Given the description of an element on the screen output the (x, y) to click on. 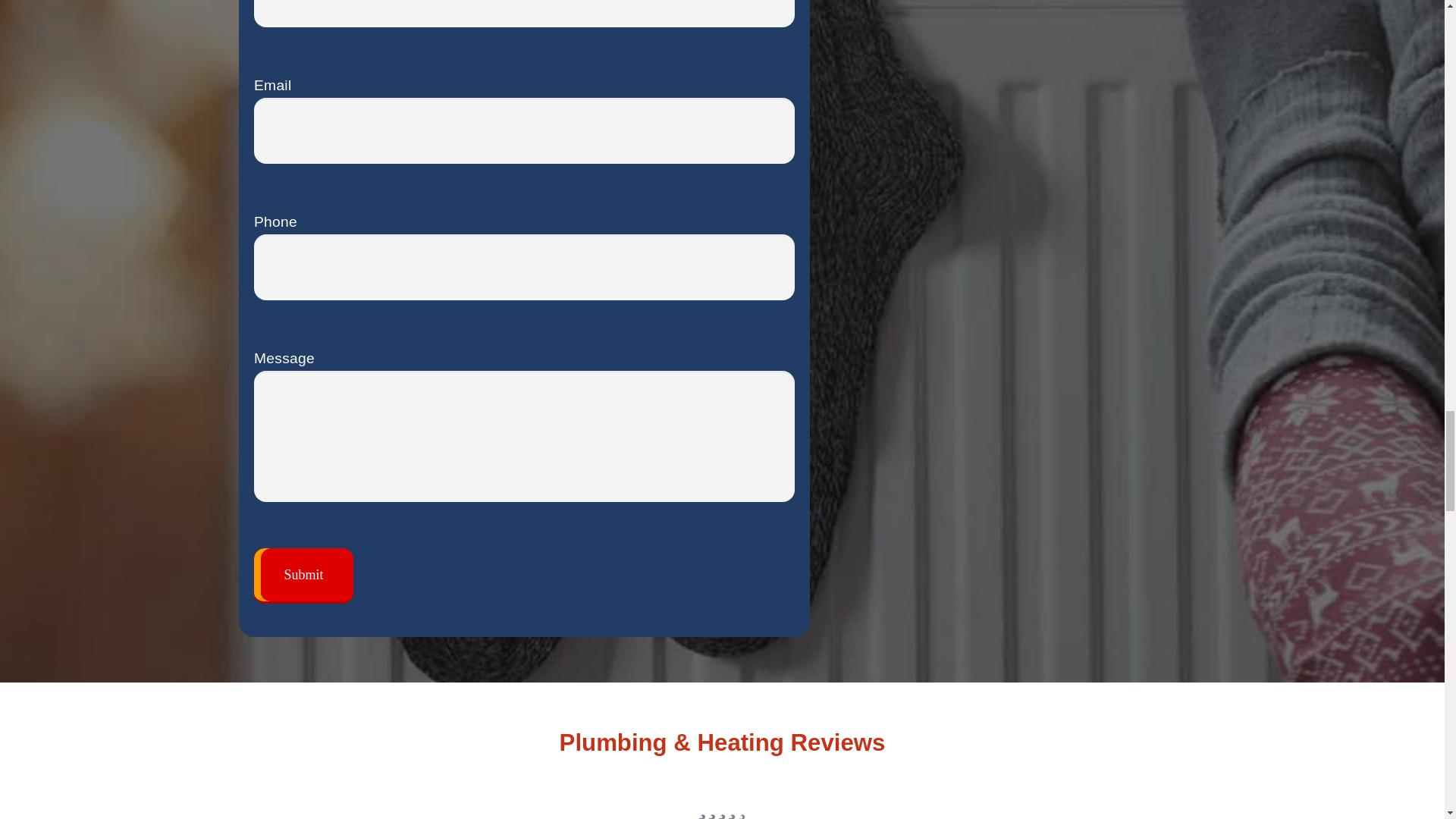
Submit (303, 575)
